Given the description of an element on the screen output the (x, y) to click on. 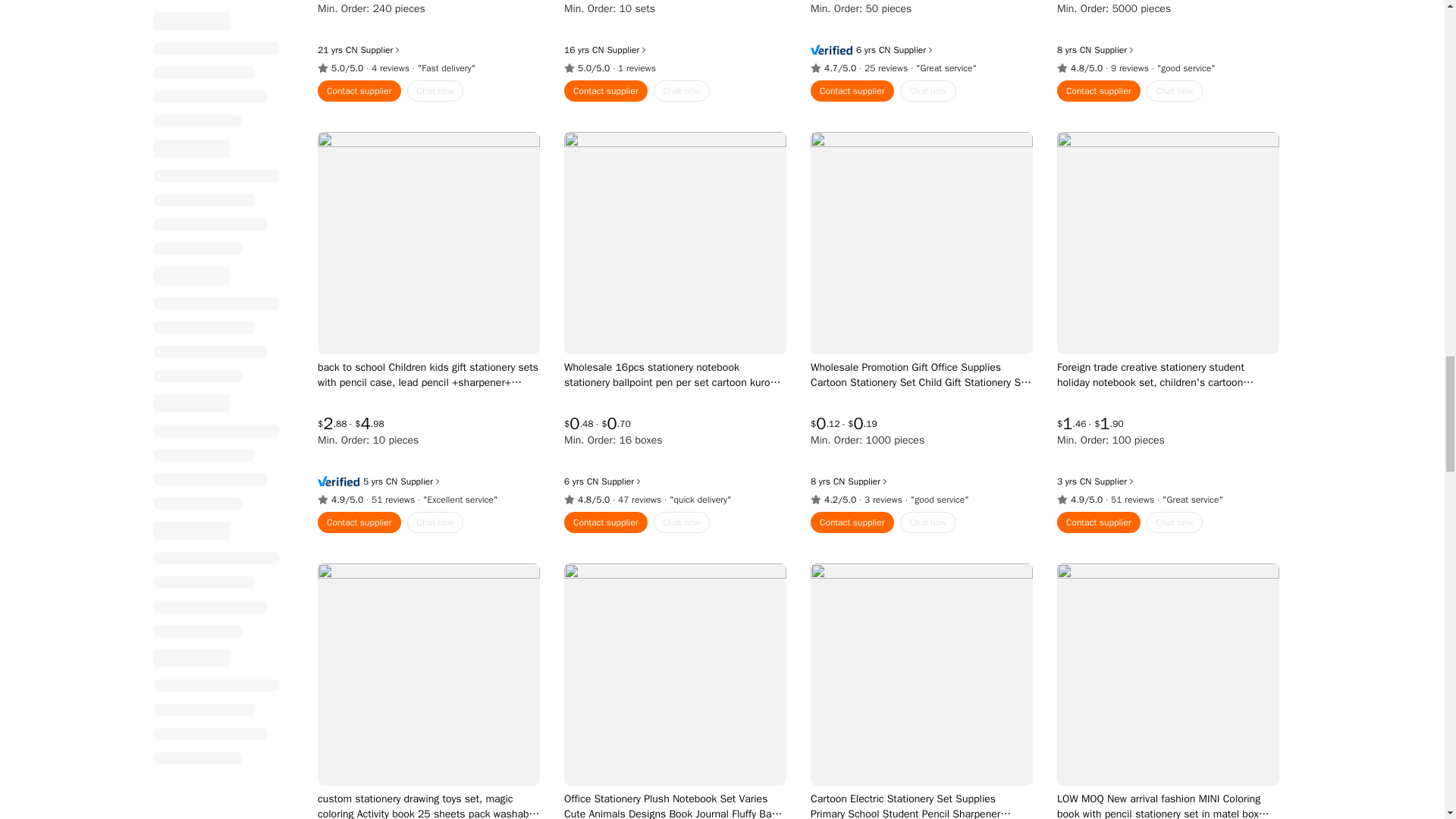
Guangzhou Prolead Stationery Co., Ltd. (883, 28)
Hangzhou Eurolucky Trading Co., Ltd. (1084, 28)
